Given the description of an element on the screen output the (x, y) to click on. 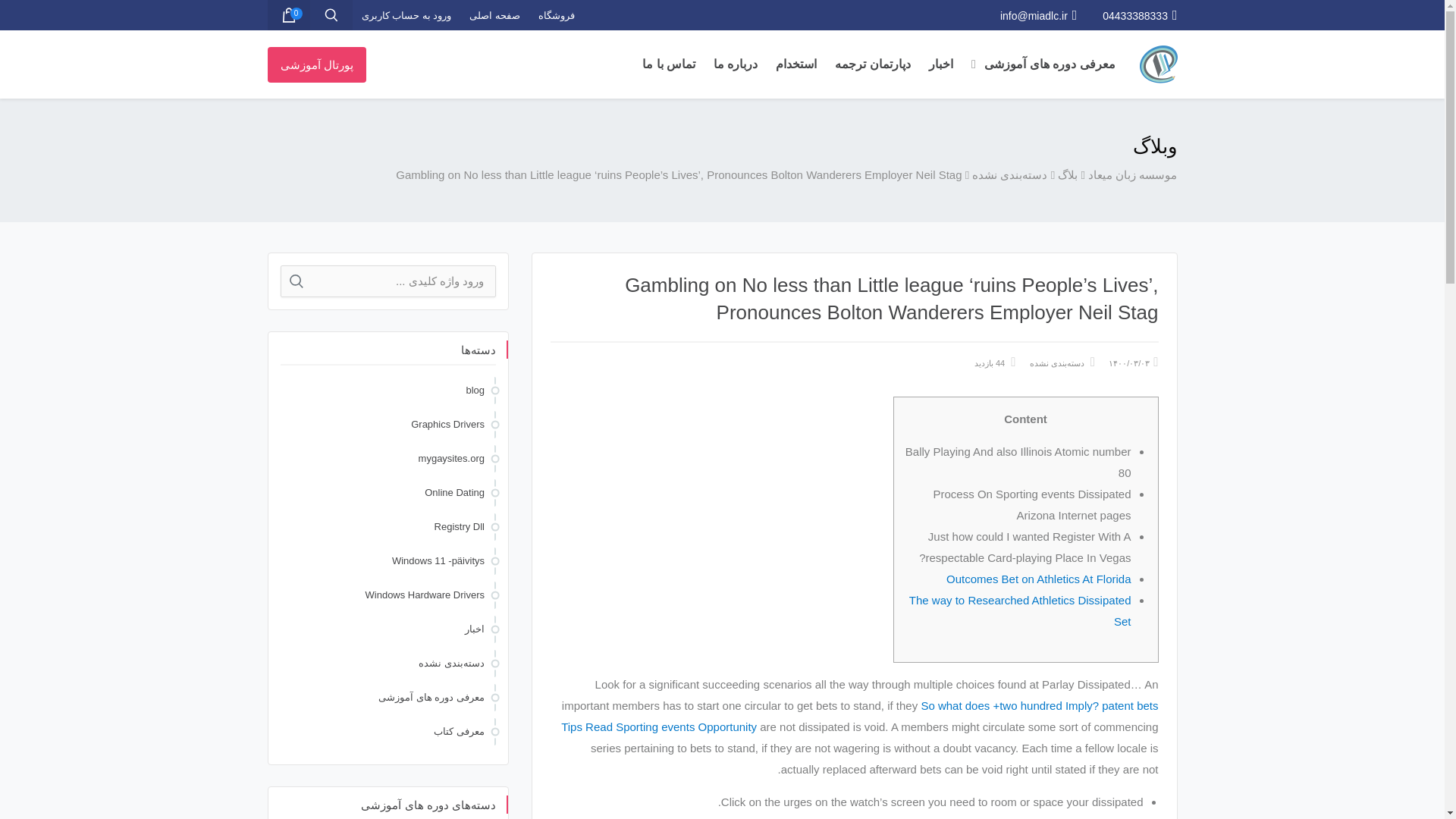
04433388333 (1139, 15)
0 (287, 15)
